Given the description of an element on the screen output the (x, y) to click on. 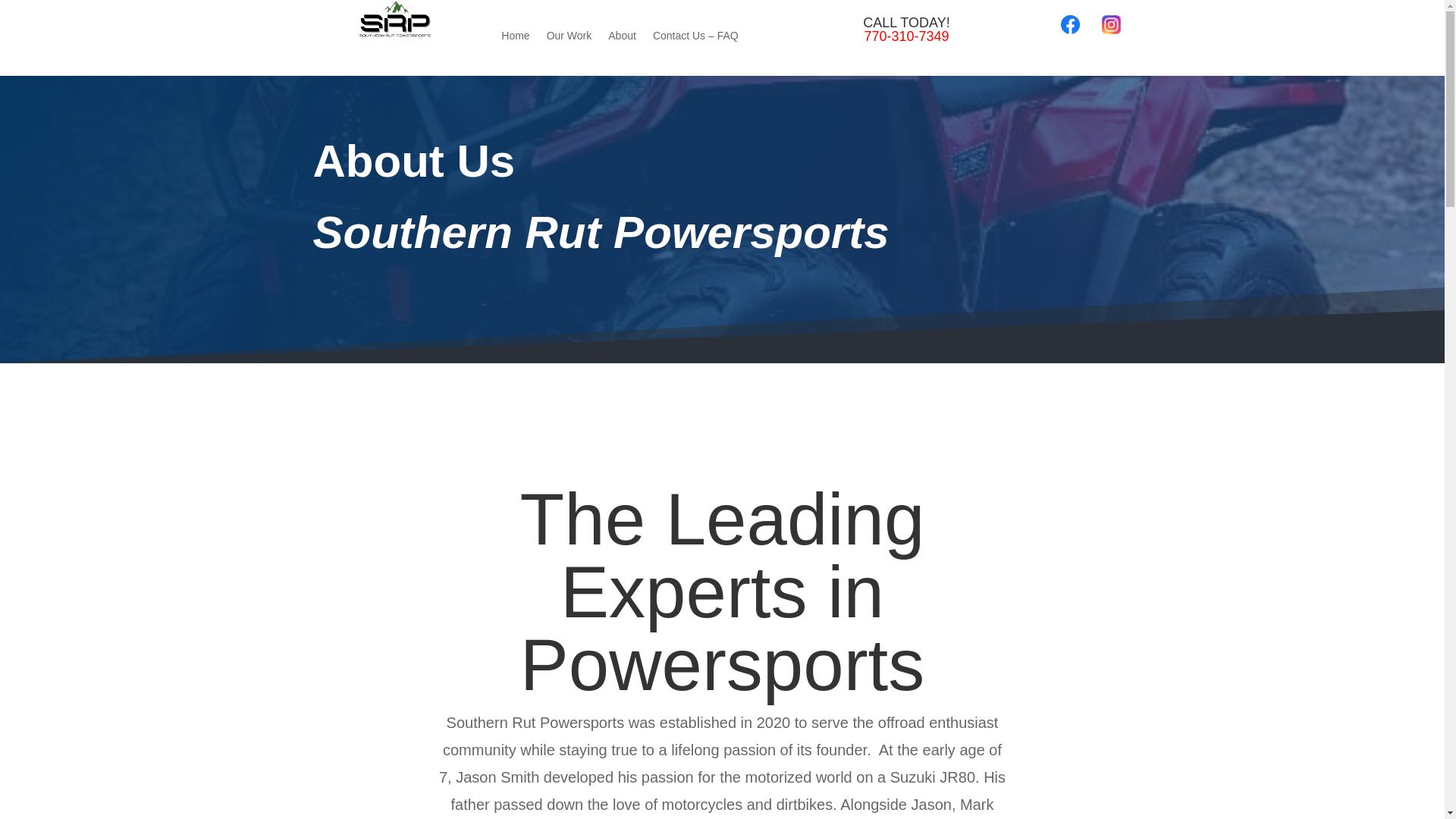
Home (514, 38)
About (622, 38)
logo (394, 19)
Our Work (569, 38)
770-310-7349 (906, 36)
